Given the description of an element on the screen output the (x, y) to click on. 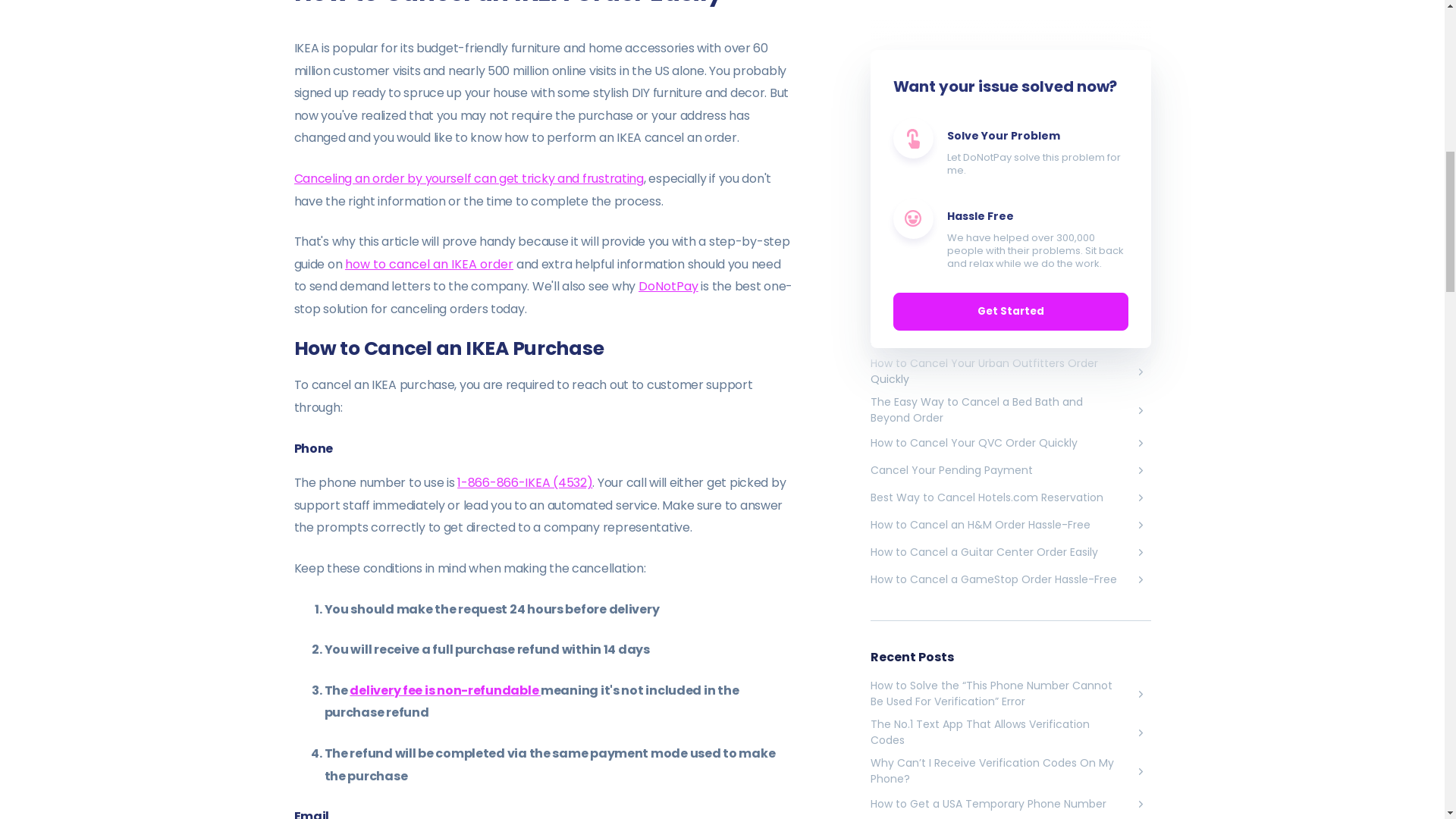
delivery fee is non-refundable (444, 690)
DoNotPay (668, 285)
how to cancel an IKEA order (429, 263)
